Given the description of an element on the screen output the (x, y) to click on. 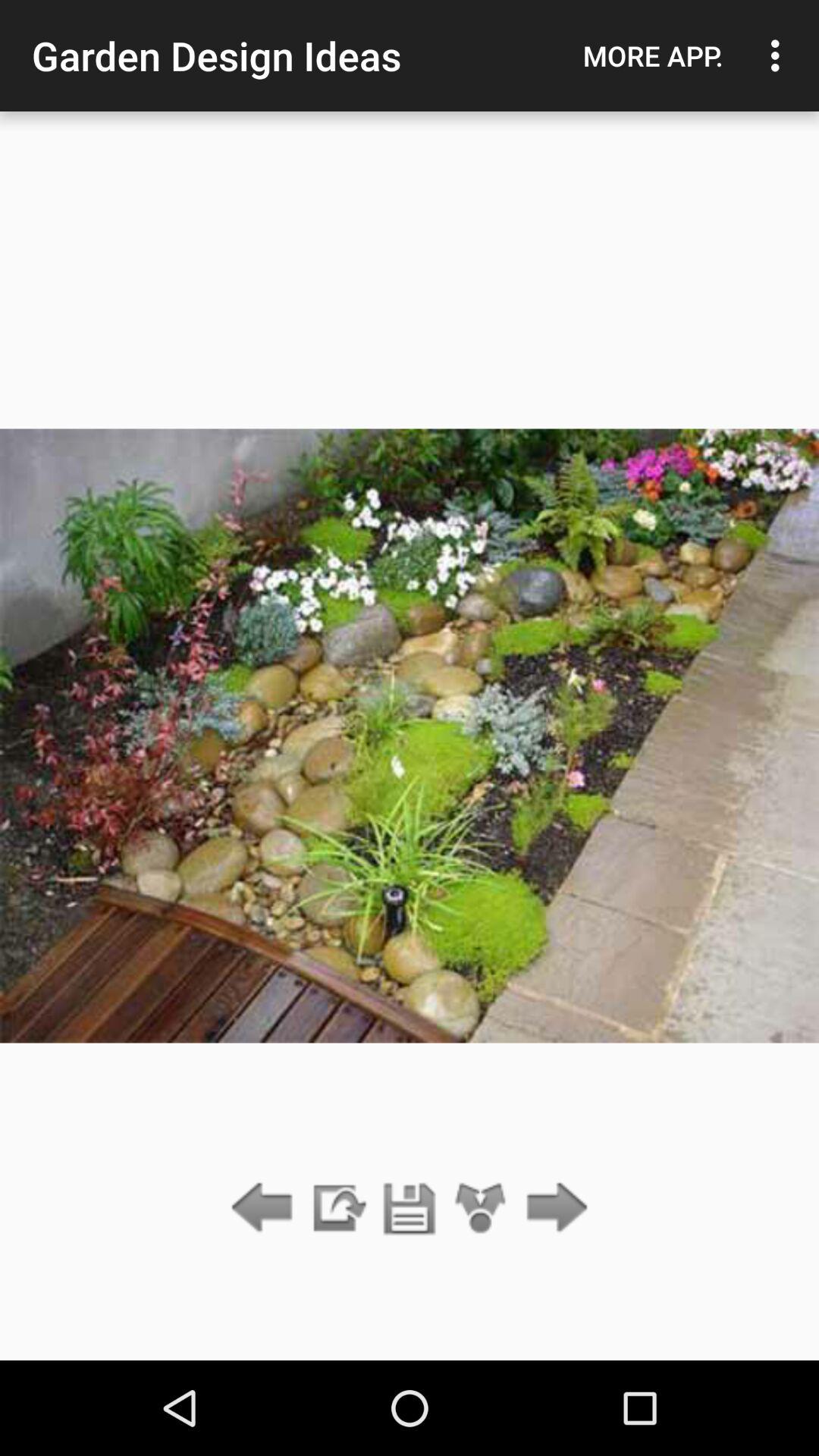
save picture (409, 1208)
